Given the description of an element on the screen output the (x, y) to click on. 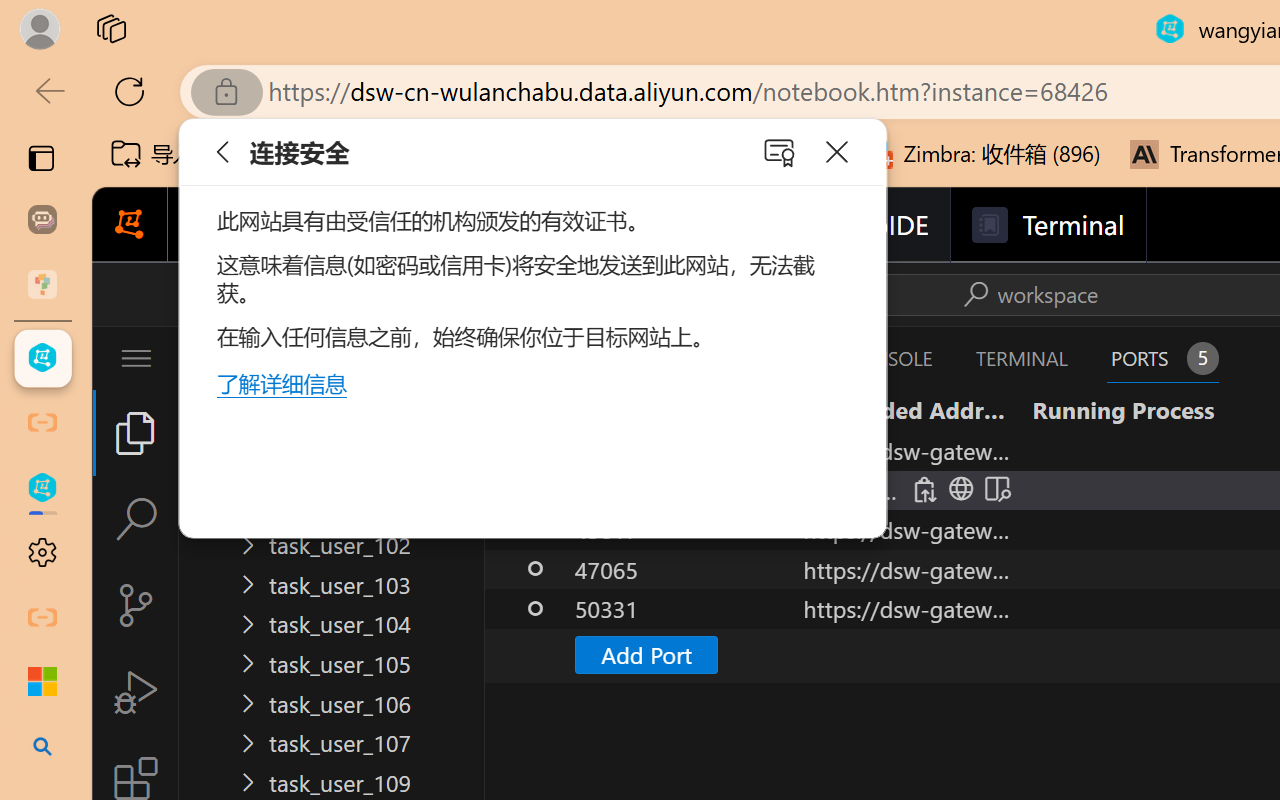
Terminal (1046, 225)
Preview in Editor (994, 489)
Microsoft security help and learning (42, 681)
Terminal (Ctrl+`) (1021, 358)
Ports - 5 forwarded ports Ports - 5 forwarded ports (1162, 358)
wangyian_webcrawler - DSW (42, 487)
Open in Browser (958, 489)
